Given the description of an element on the screen output the (x, y) to click on. 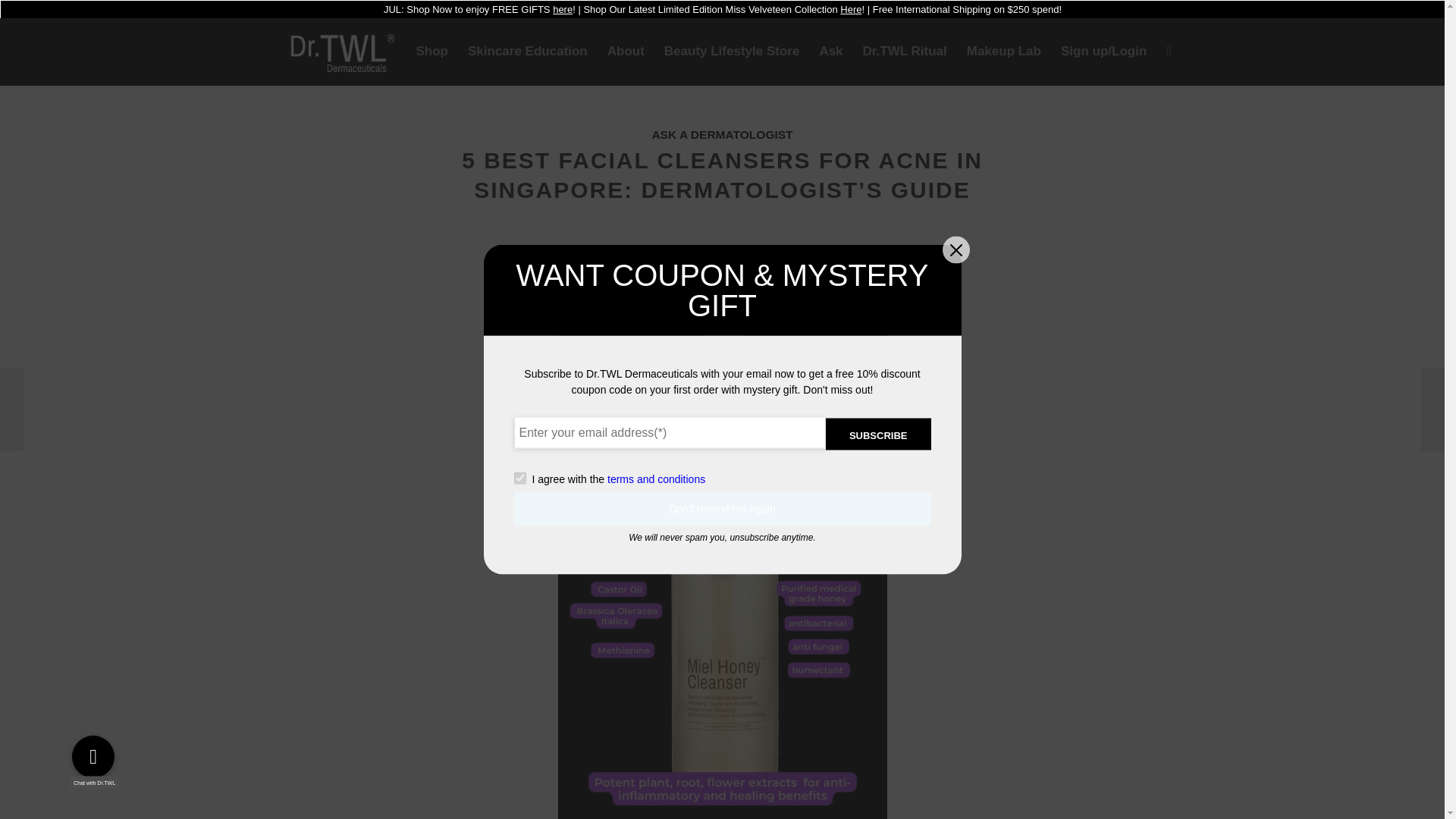
on (519, 478)
JUL: Shop Now to enjoy FREE GIFTS here! (479, 9)
